Given the description of an element on the screen output the (x, y) to click on. 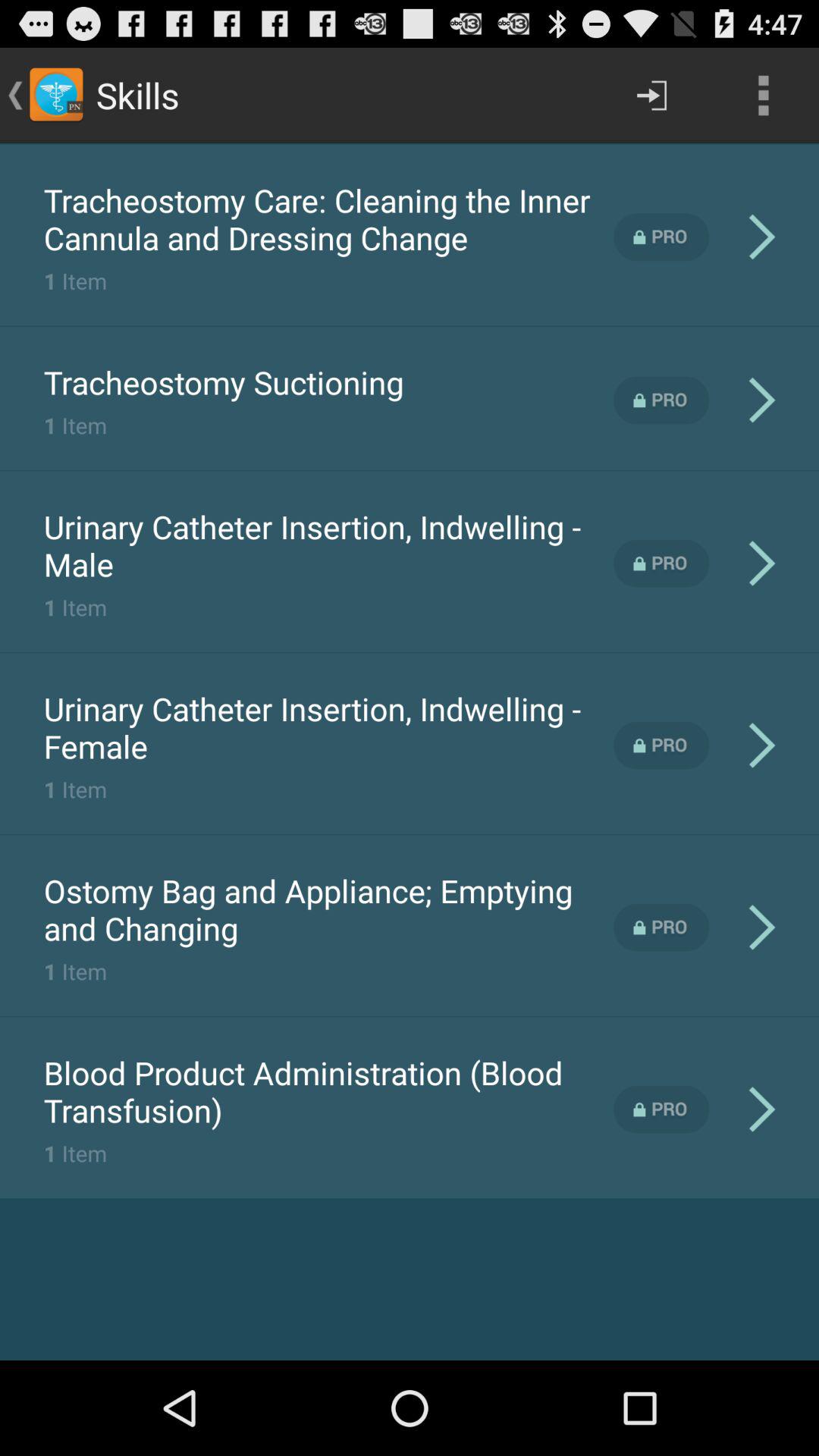
open the item above the 1 item (328, 218)
